Given the description of an element on the screen output the (x, y) to click on. 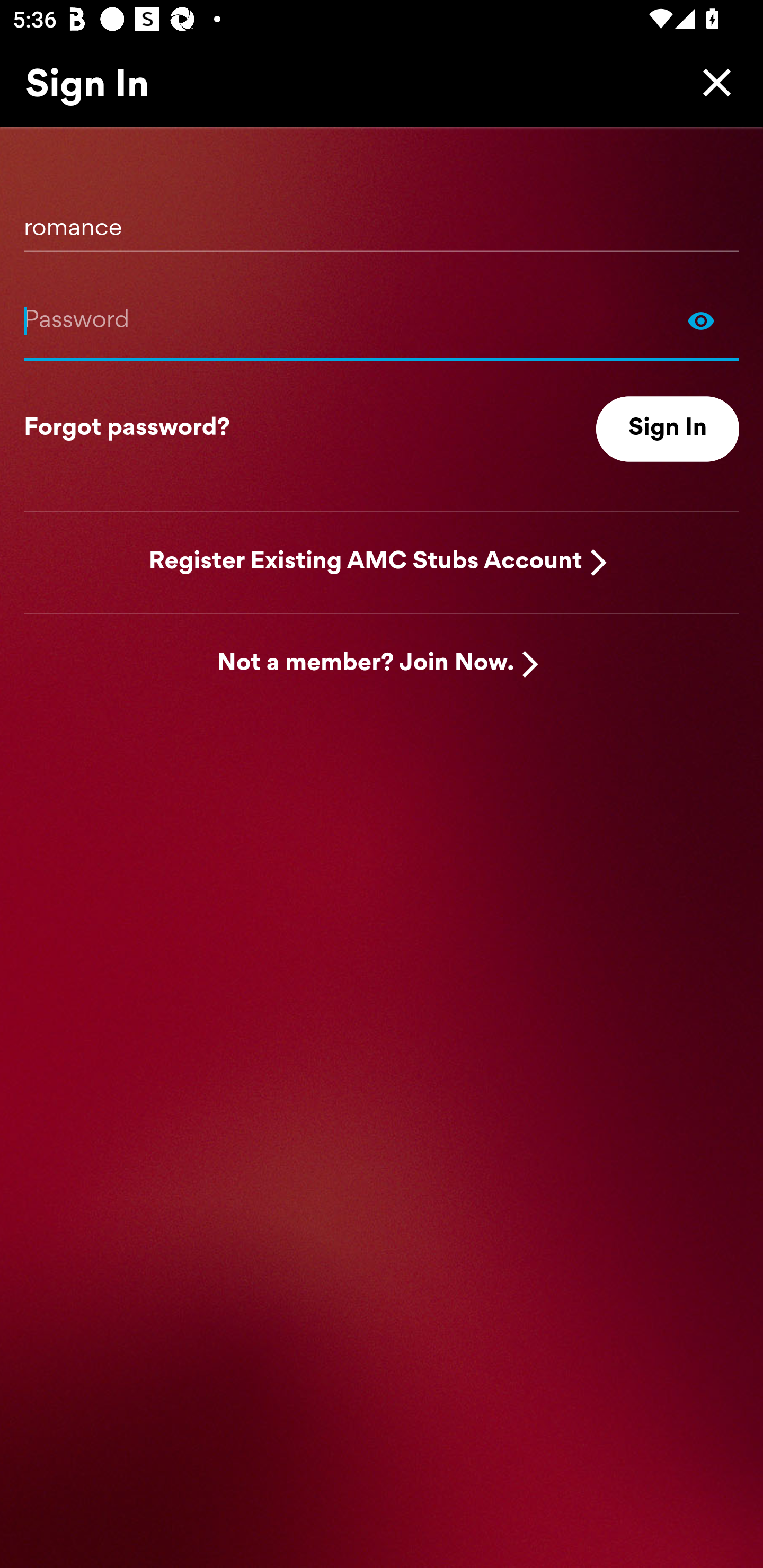
Close (712, 82)
romance (381, 220)
Show Password (381, 320)
Show Password (701, 320)
Forgot password? (126, 428)
Sign In (667, 428)
Register Existing AMC Stubs Account (365, 561)
Not a member? Join Now. (365, 663)
